Given the description of an element on the screen output the (x, y) to click on. 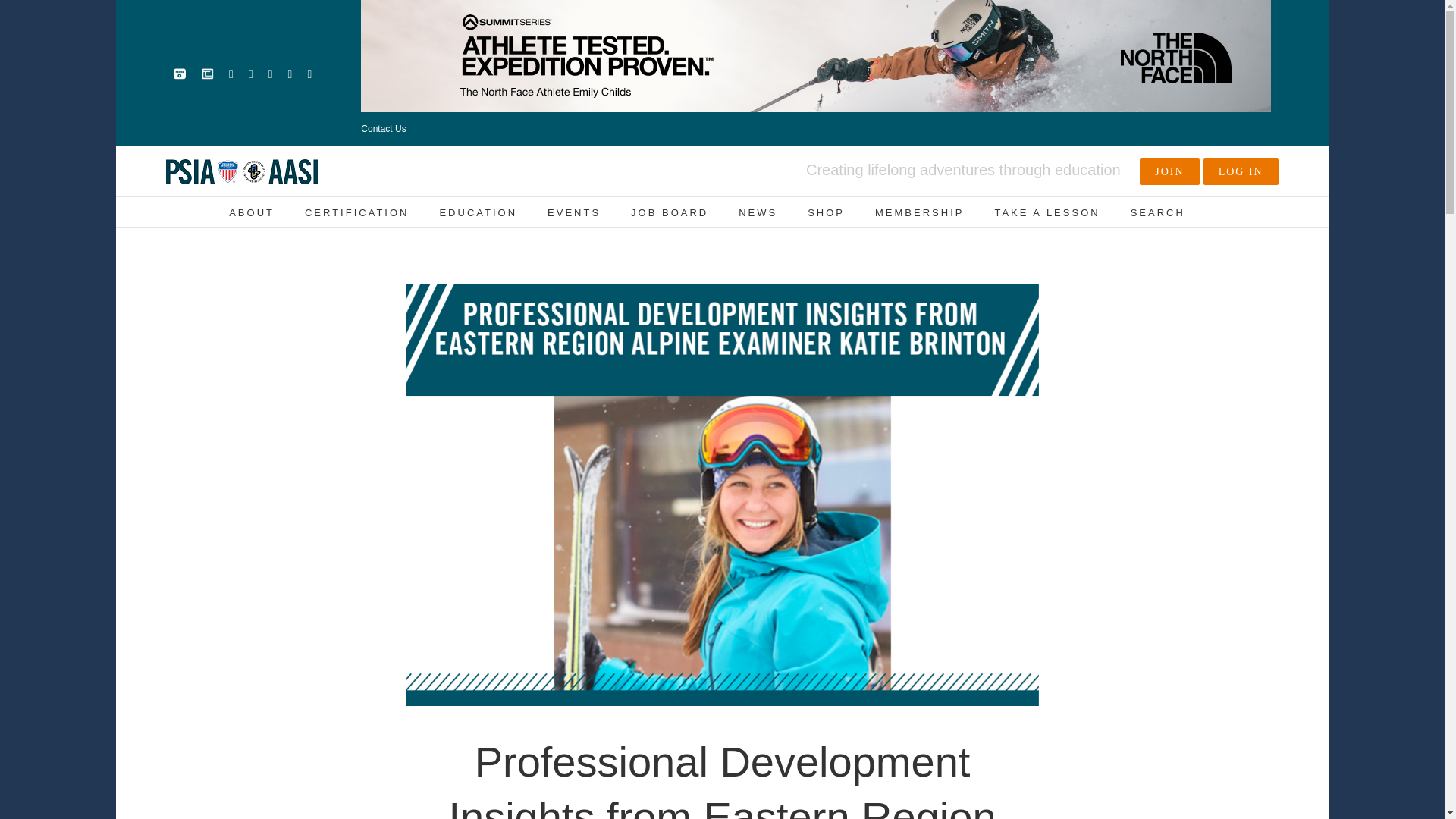
JOIN (1169, 171)
Elearning (207, 73)
LOG IN (1241, 171)
Contact Us (383, 128)
CERTIFICATION (356, 212)
Matrix (179, 73)
ABOUT (251, 212)
